Given the description of an element on the screen output the (x, y) to click on. 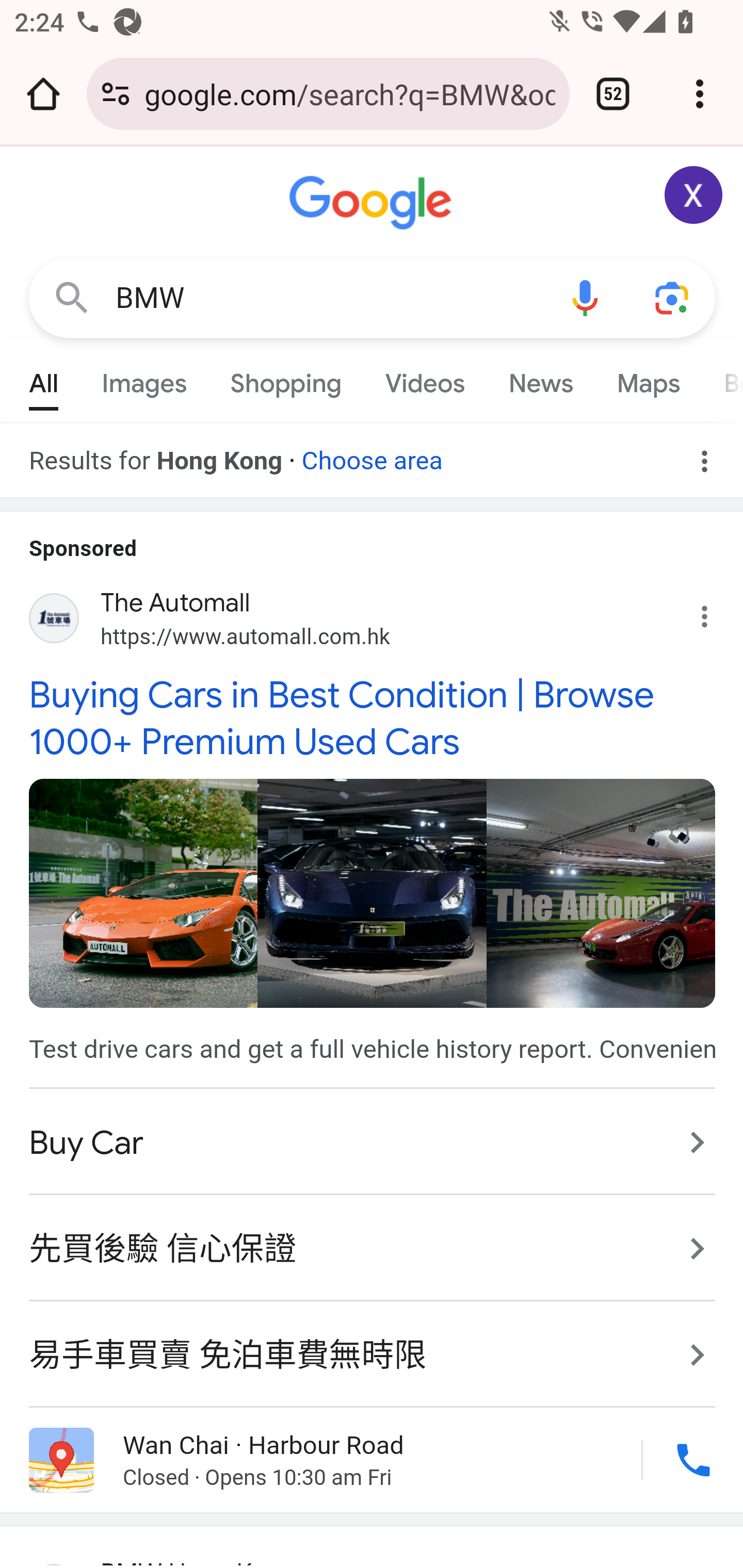
Open the home page (43, 93)
Connection is secure (115, 93)
Switch or close tabs (612, 93)
Customize and control Google Chrome (699, 93)
Google (372, 203)
Google Account: Xiaoran (zxrappiumtest@gmail.com) (694, 195)
Google Search (71, 296)
Search using your camera or photos (672, 296)
BMW (328, 297)
Images (144, 378)
Shopping (285, 378)
Videos (424, 378)
News (540, 378)
Maps (647, 378)
Choose area (371, 453)
Why this ad? (714, 611)
Image from automall.com.hk (141, 892)
Image from automall.com.hk (371, 892)
Image from automall.com.hk (600, 892)
Buy Car (372, 1142)
先買後驗 信心保證 (372, 1248)
易手車買賣 免泊車費無時限 (372, 1344)
